Given the description of an element on the screen output the (x, y) to click on. 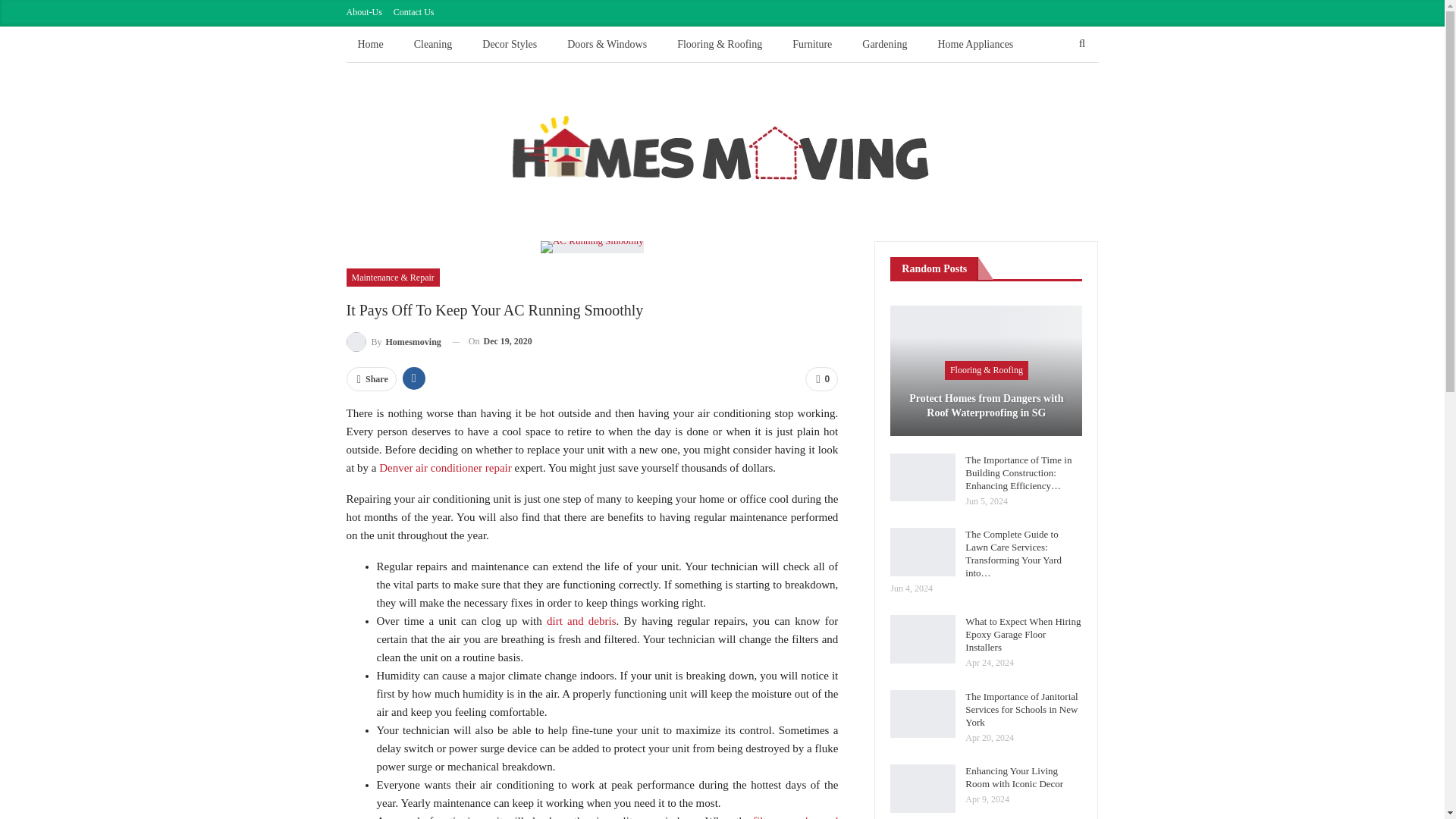
dirt and debris (581, 621)
Contact Us (413, 11)
Home (370, 44)
Browse Author Articles (393, 341)
0 (821, 378)
Home Appliances (975, 44)
Cleaning (433, 44)
Gardening (884, 44)
About-Us (363, 11)
By Homesmoving (393, 341)
Furniture (811, 44)
Decor Styles (509, 44)
Denver air conditioner repair (445, 467)
